Given the description of an element on the screen output the (x, y) to click on. 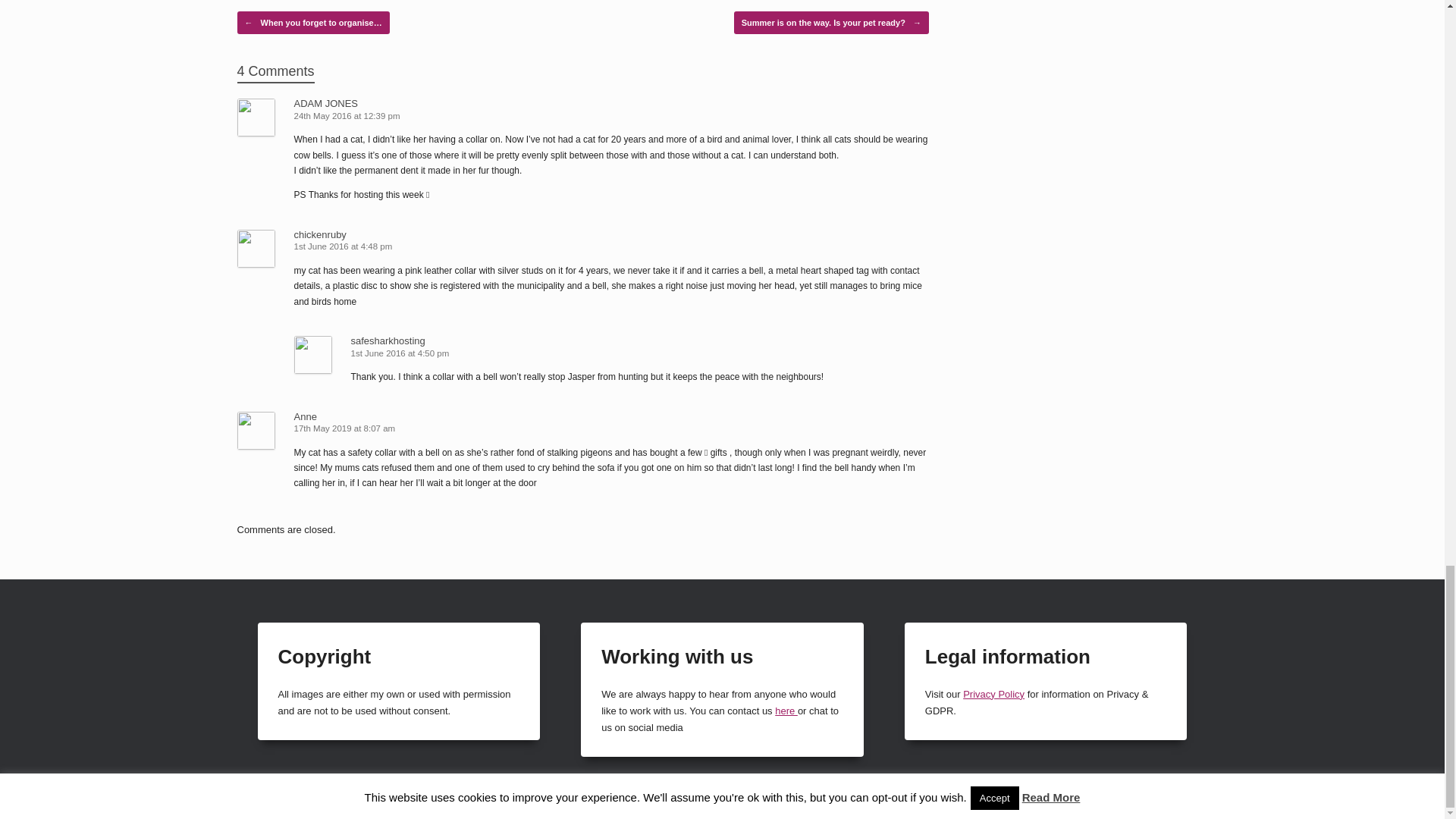
1st June 2016 at 4:50 pm (400, 352)
24th May 2016 at 12:39 pm (348, 115)
17th May 2019 at 8:07 am (345, 428)
chickenruby (320, 234)
ADAM JONES (326, 102)
1st June 2016 at 4:48 pm (344, 245)
